Given the description of an element on the screen output the (x, y) to click on. 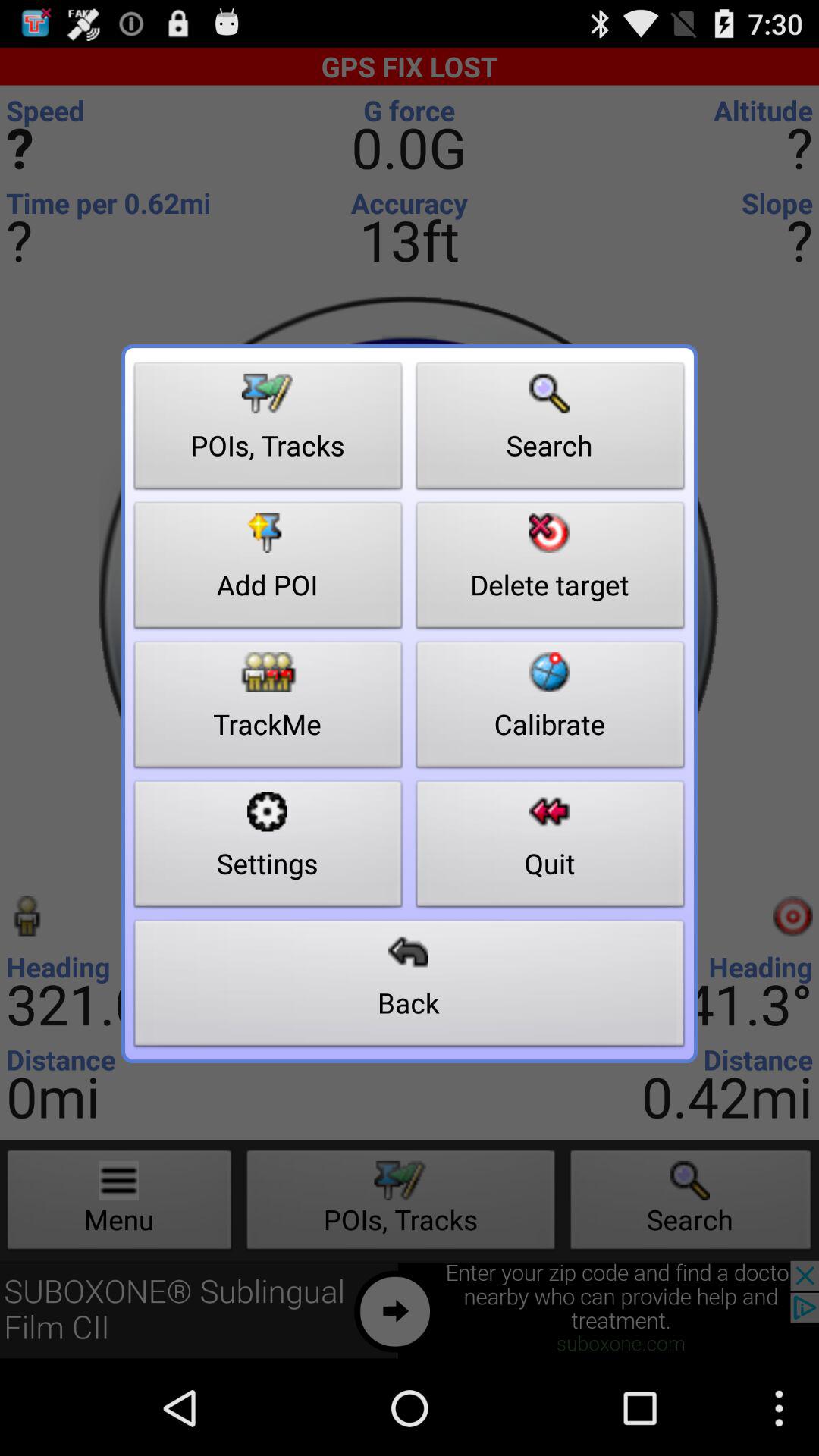
turn off quit (550, 847)
